Given the description of an element on the screen output the (x, y) to click on. 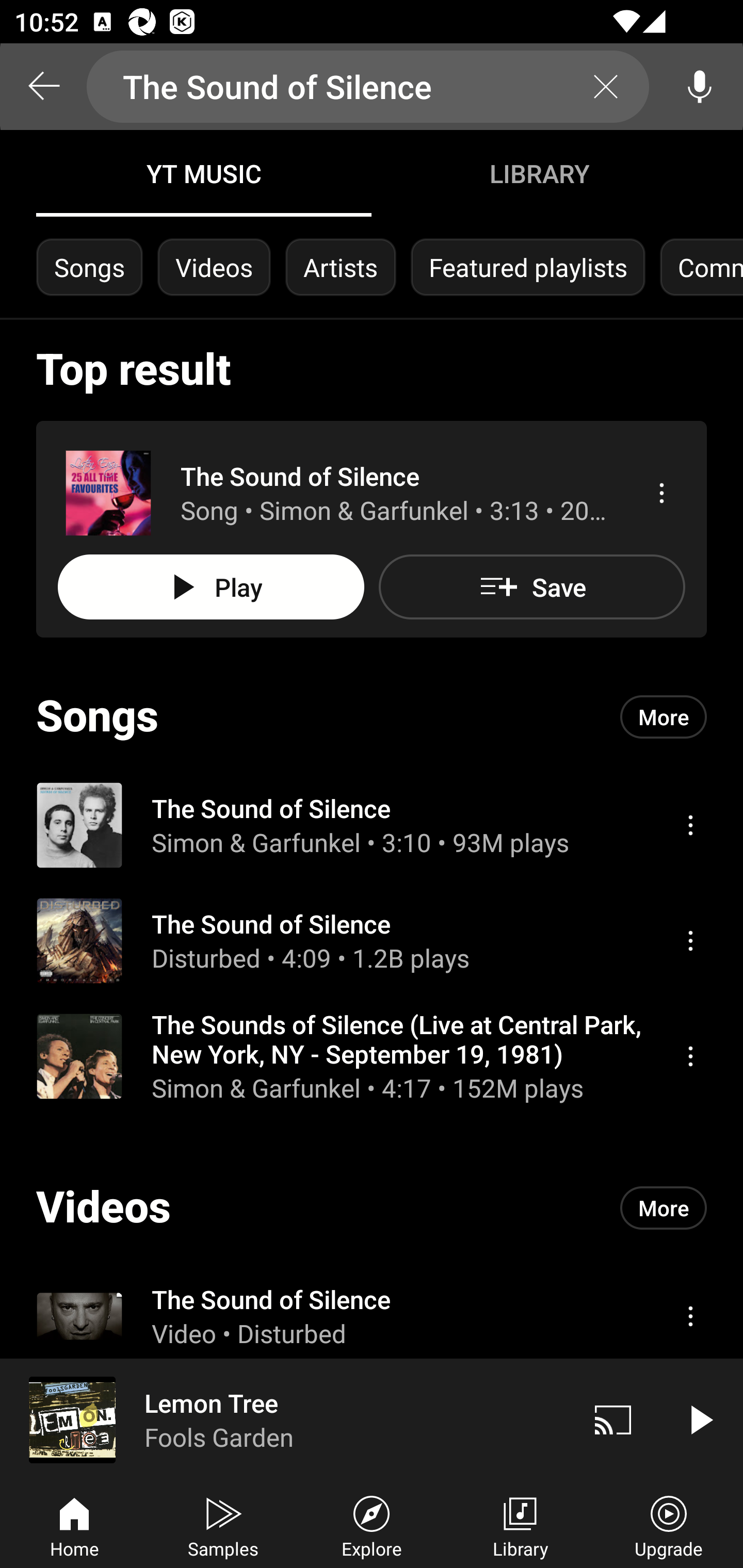
Search back (43, 86)
The Sound of Silence (367, 86)
Clear search (605, 86)
Voice search (699, 86)
Library LIBRARY (538, 173)
Menu (661, 492)
Play PLAY ALL (210, 587)
Save Save to playlist (531, 587)
Songs More More (371, 716)
More (663, 716)
Menu (690, 824)
Menu (690, 940)
Menu (690, 1056)
Videos More More (371, 1208)
More (663, 1207)
Menu (690, 1315)
Lemon Tree Fools Garden (284, 1419)
Cast. Disconnected (612, 1419)
Play video (699, 1419)
Home (74, 1524)
Samples (222, 1524)
Explore (371, 1524)
Library (519, 1524)
Upgrade (668, 1524)
